Given the description of an element on the screen output the (x, y) to click on. 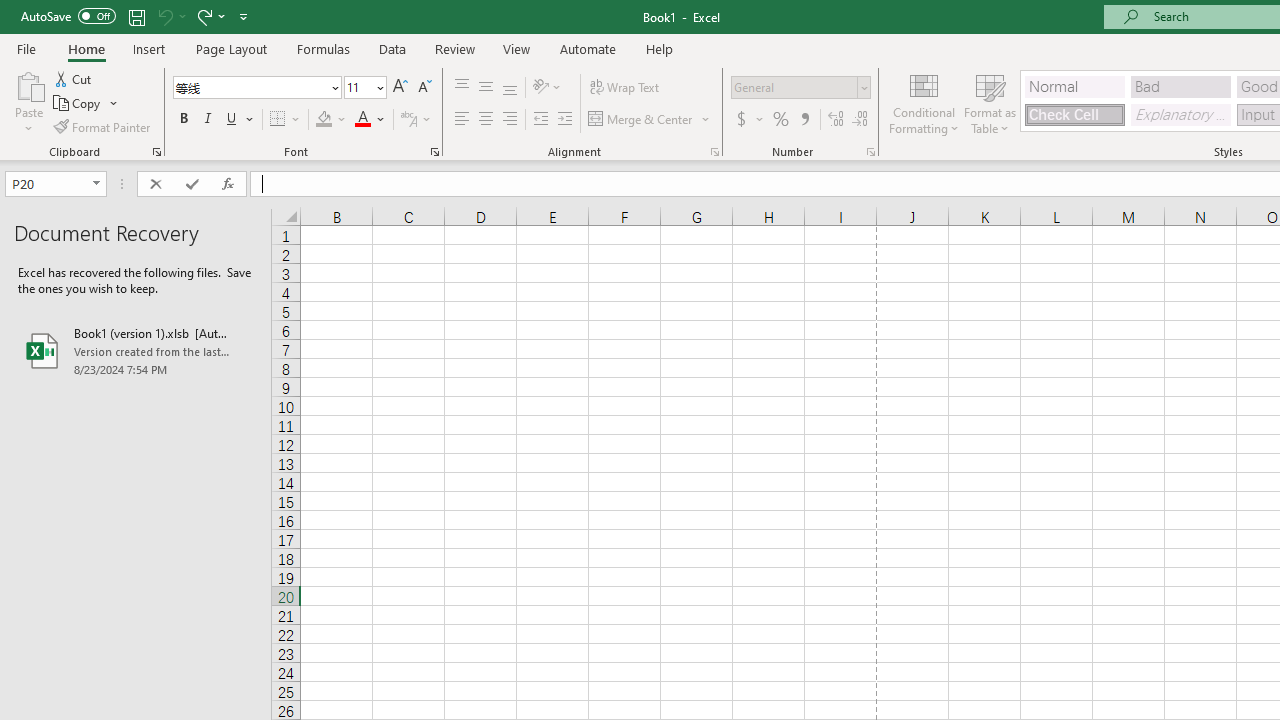
Bottom Border (278, 119)
Copy (85, 103)
Increase Indent (565, 119)
Fill Color RGB(255, 255, 0) (324, 119)
Font Color RGB(255, 0, 0) (362, 119)
Check Cell (1074, 114)
Decrease Decimal (859, 119)
Paste (28, 102)
Paste (28, 84)
Conditional Formatting (924, 102)
